Given the description of an element on the screen output the (x, y) to click on. 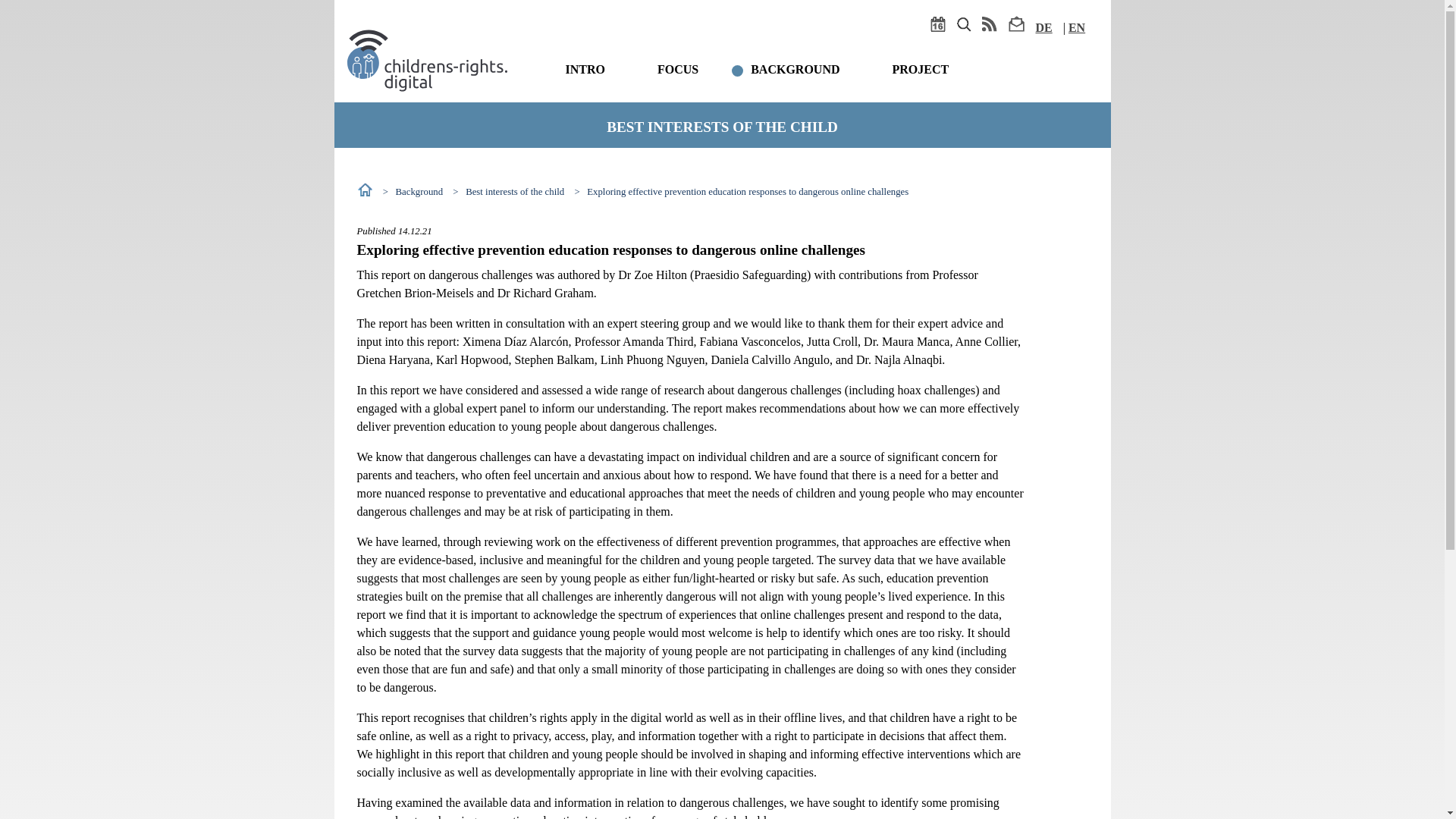
Active topic (786, 69)
Search (963, 27)
Contact (1016, 27)
RSS-Feed (988, 27)
Show english version (1076, 27)
DE (1043, 27)
EN (1076, 27)
Deutsche Version anzeigen (1043, 27)
FOCUS (678, 69)
Best interests of the child (514, 191)
PROJECT (920, 69)
INTRO (585, 69)
Events (937, 27)
Background (420, 191)
BACKGROUND (795, 69)
